Given the description of an element on the screen output the (x, y) to click on. 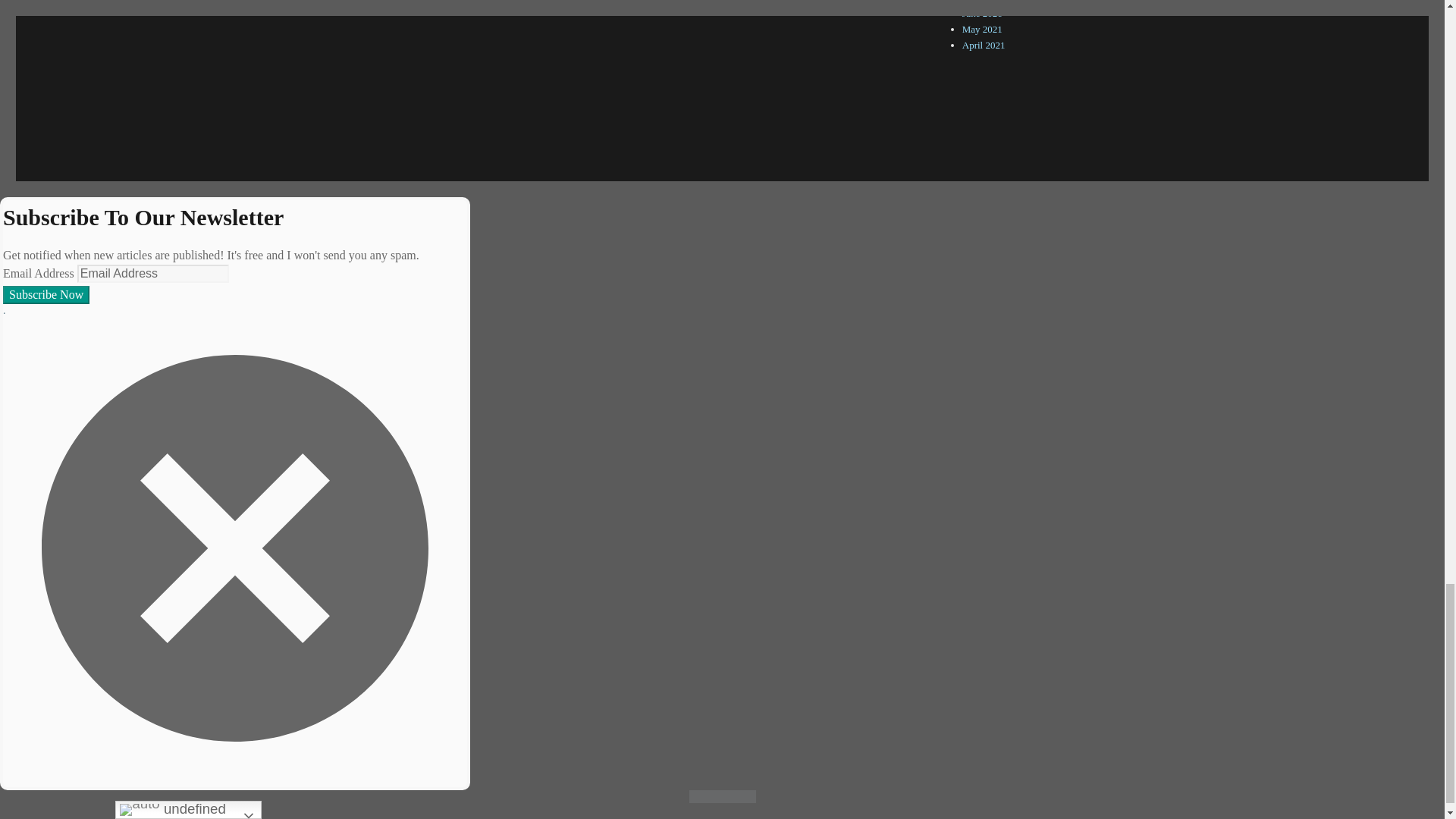
Subscribe Now (45, 294)
